Given the description of an element on the screen output the (x, y) to click on. 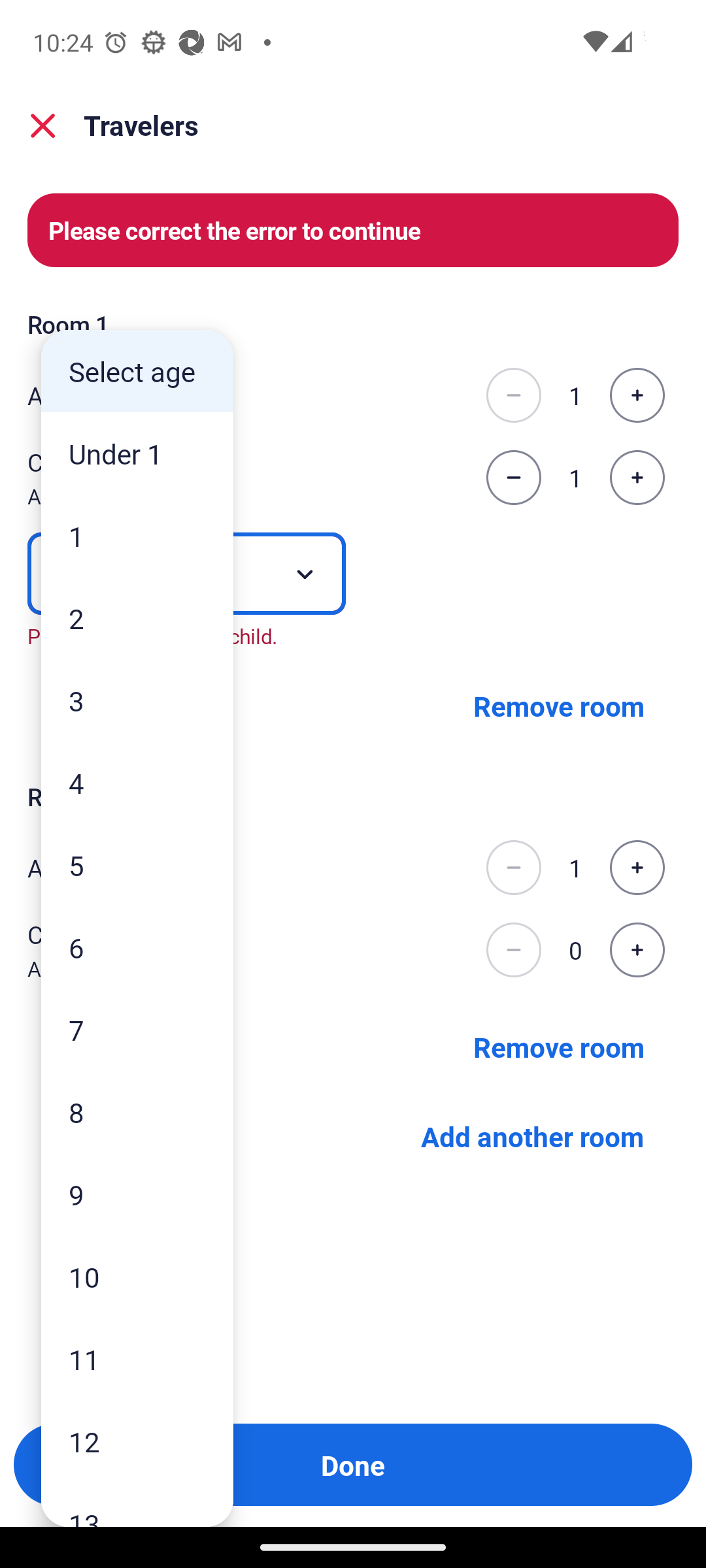
Under 1 (136, 452)
1 (136, 535)
2 (136, 617)
3 (136, 699)
4 (136, 782)
5 (136, 864)
6 (136, 946)
7 (136, 1028)
8 (136, 1111)
9 (136, 1193)
10 (136, 1276)
11 (136, 1358)
12 (136, 1440)
